Given the description of an element on the screen output the (x, y) to click on. 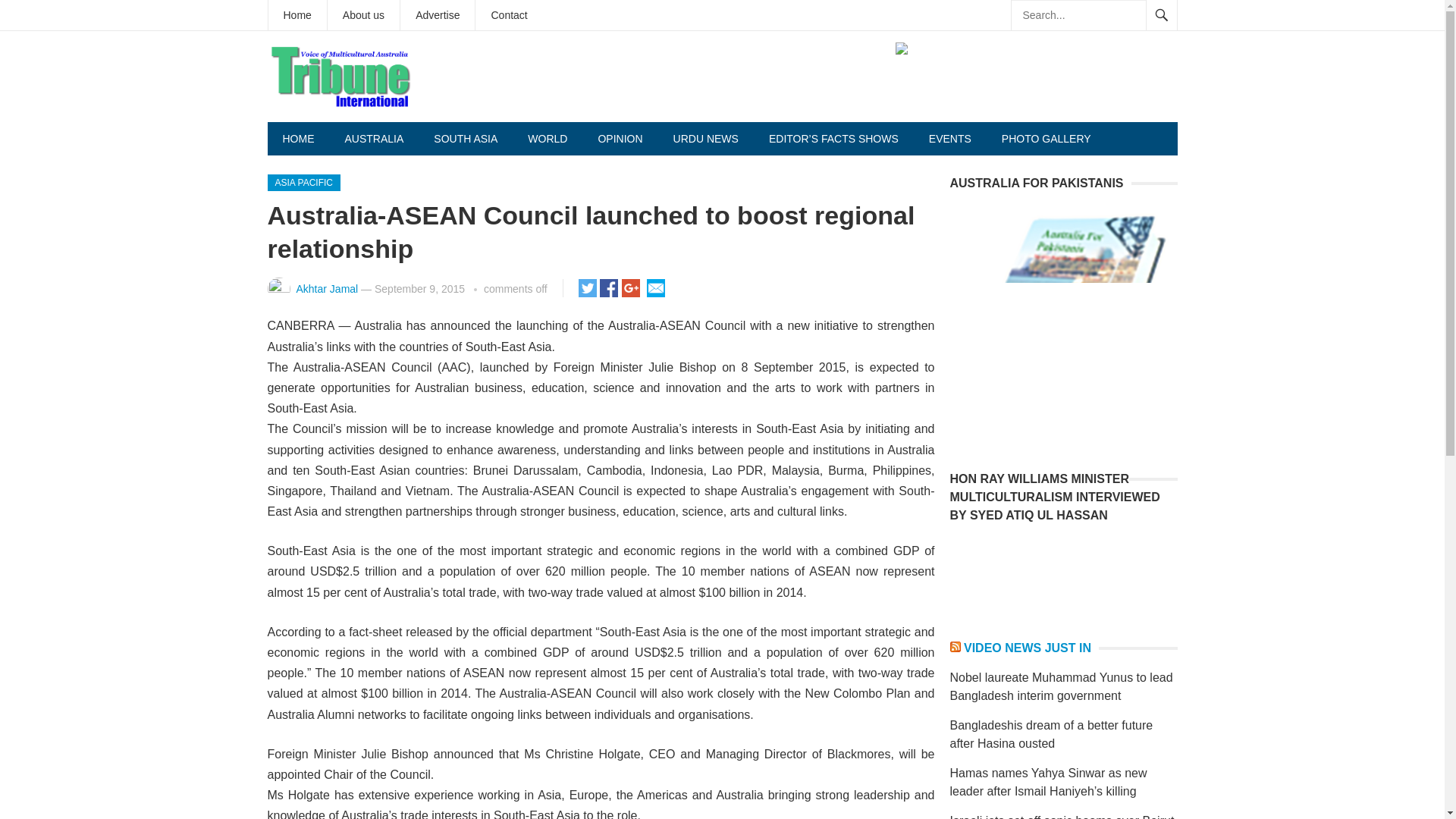
Home (296, 15)
OPINION (620, 138)
PHOTO GALLERY (1046, 138)
Posts by Akhtar Jamal (326, 288)
Akhtar Jamal (326, 288)
SOUTH ASIA (465, 138)
URDU NEWS (706, 138)
View all posts in Asia Pacific (302, 182)
HOME (297, 138)
AUSTRALIA (374, 138)
